Given the description of an element on the screen output the (x, y) to click on. 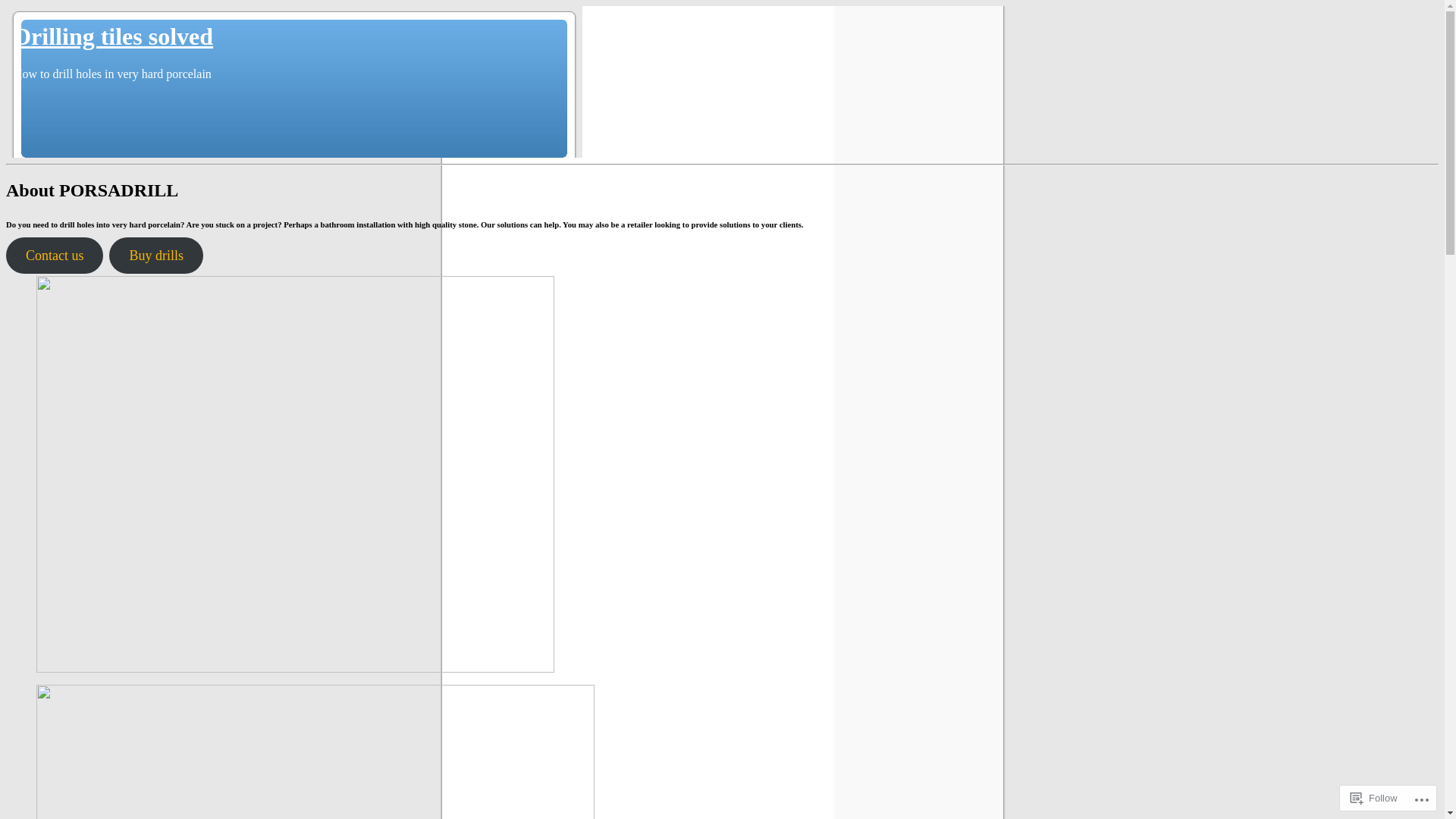
Follow Element type: text (1373, 797)
Search Element type: text (21, 7)
Drilling tiles solved Element type: text (113, 36)
Buy drills Element type: text (155, 255)
Contact us Element type: text (54, 255)
